Given the description of an element on the screen output the (x, y) to click on. 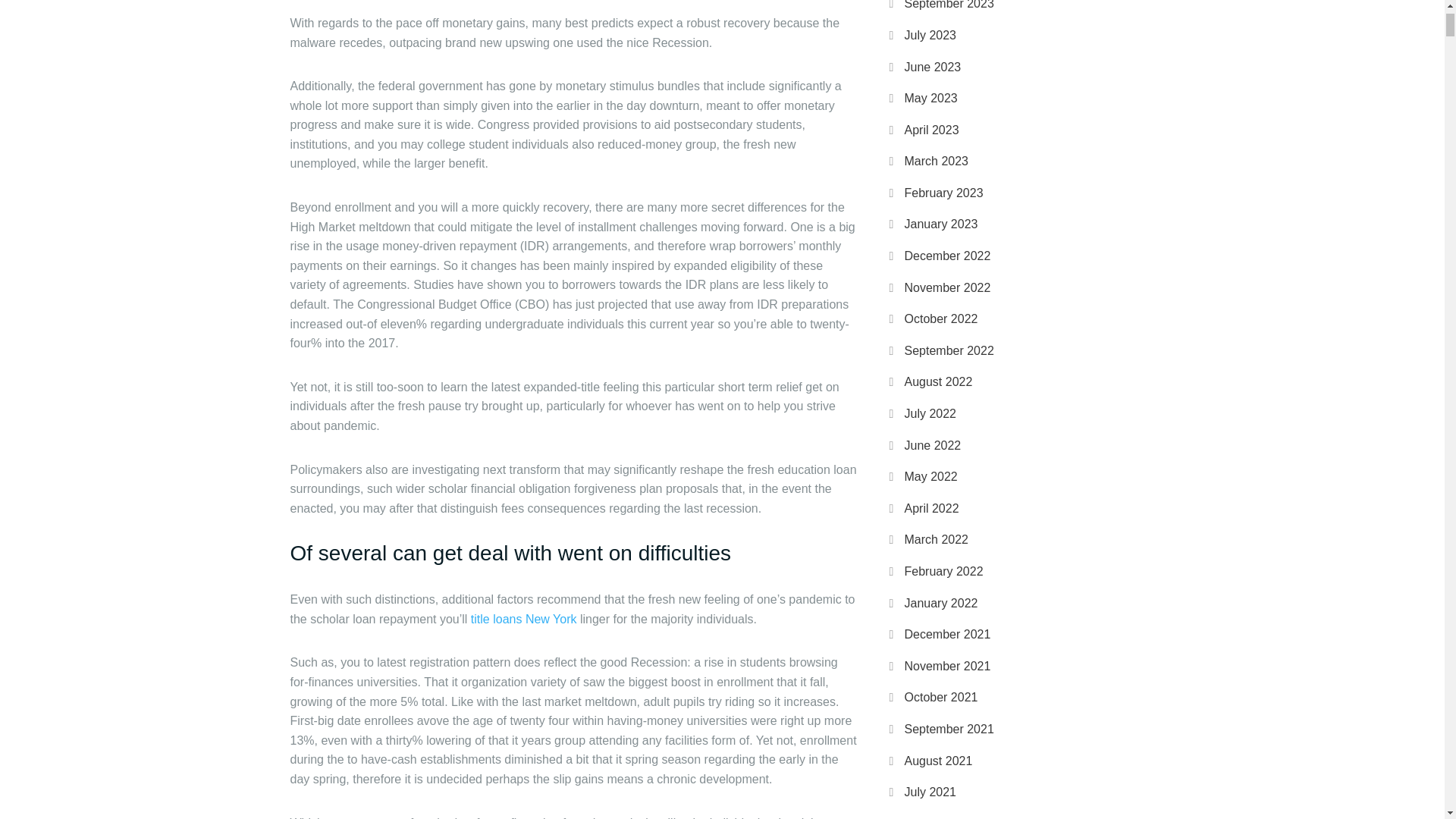
May 2022 (930, 476)
June 2022 (932, 445)
October 2022 (940, 318)
November 2022 (947, 287)
April 2023 (931, 129)
June 2023 (932, 66)
title loans New York (523, 618)
May 2023 (930, 97)
March 2022 (936, 539)
February 2023 (943, 192)
